Given the description of an element on the screen output the (x, y) to click on. 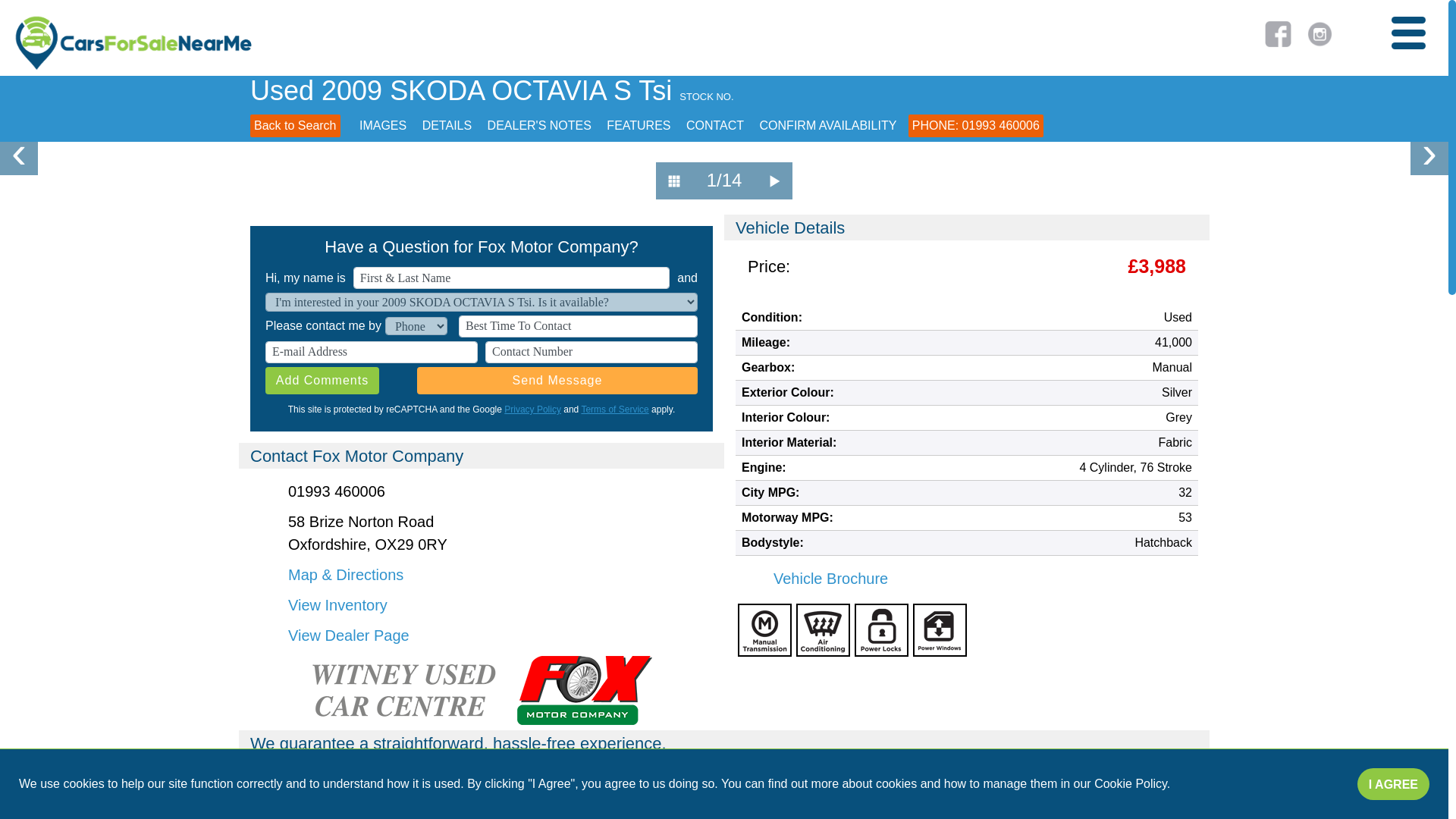
Start slideshow (775, 180)
Contact Number (590, 352)
E-mail Address (370, 352)
Thumbnails (674, 180)
Best Time To Contact (577, 326)
